Given the description of an element on the screen output the (x, y) to click on. 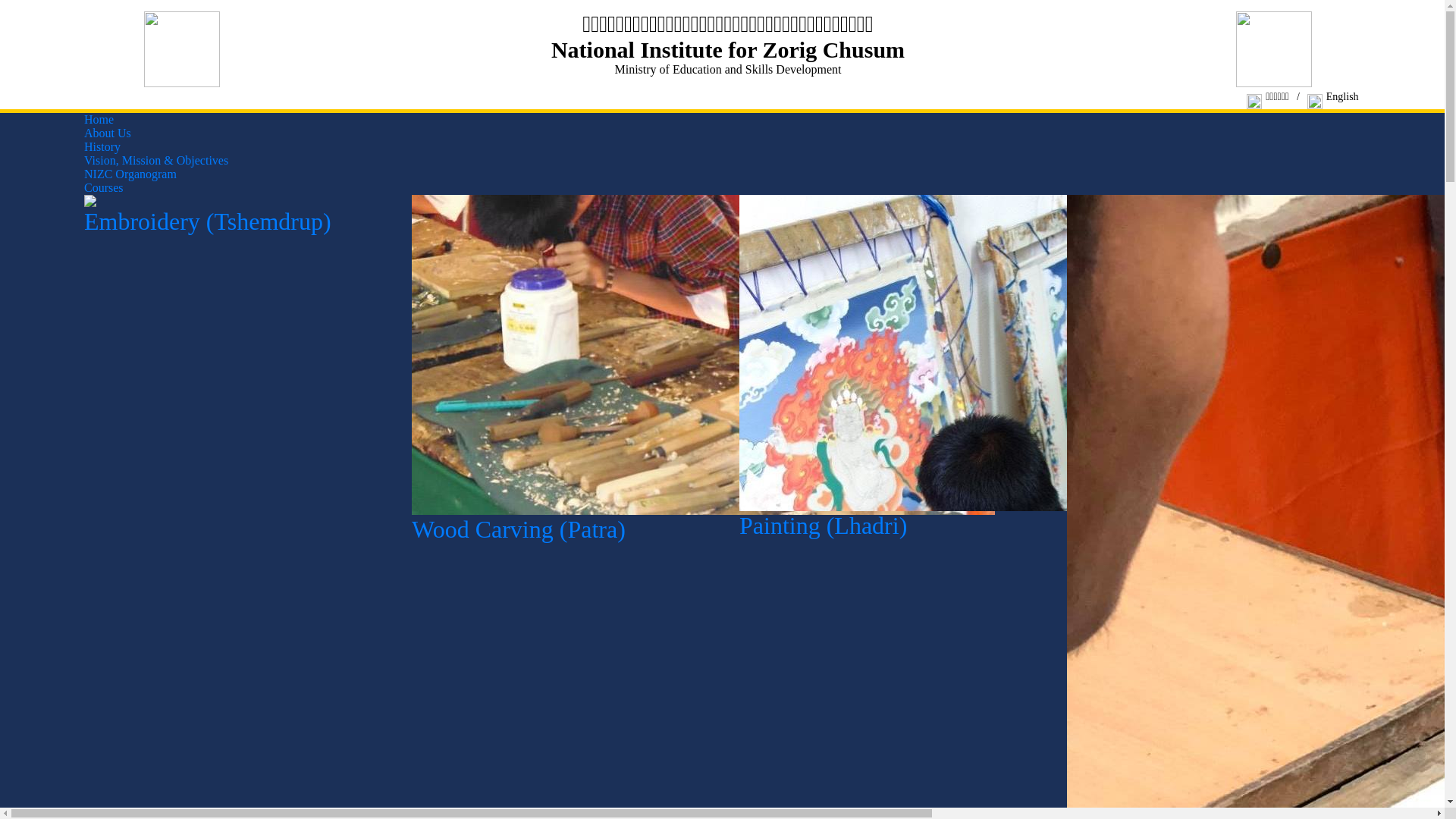
NIZC Organogram Element type: text (130, 173)
Vision, Mission & Objectives Element type: text (156, 159)
About Us Element type: text (107, 132)
Embroidery (Tshemdrup) Element type: text (236, 215)
History Element type: text (102, 146)
Painting (Lhadri) Element type: text (1025, 519)
Wood Carving (Patra) Element type: text (702, 523)
Home Element type: text (98, 118)
Courses Element type: text (103, 187)
